Given the description of an element on the screen output the (x, y) to click on. 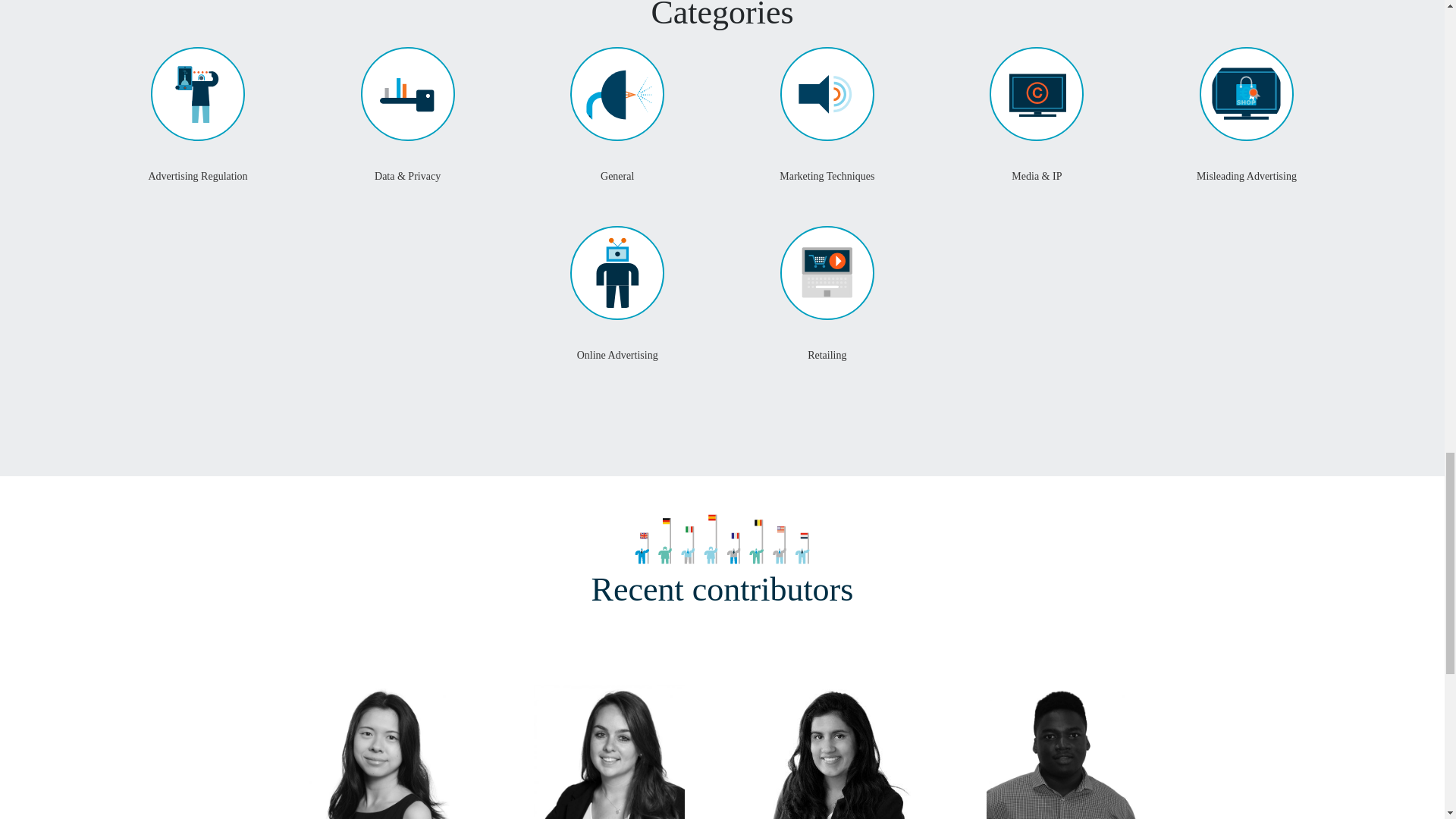
Advertising Regulation (197, 180)
Marketing Techniques (827, 180)
General (617, 180)
